Given the description of an element on the screen output the (x, y) to click on. 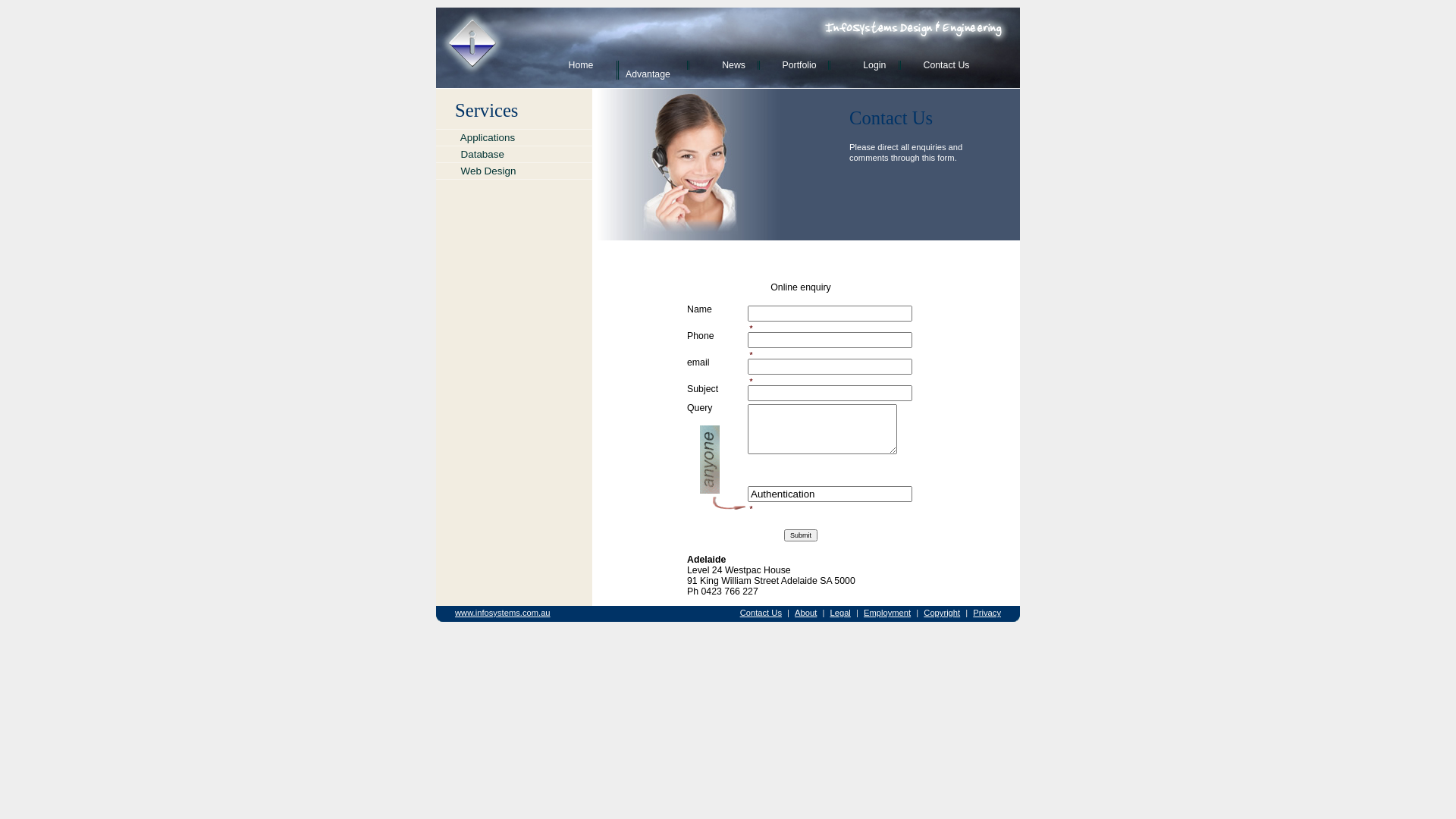
Submit Element type: text (800, 535)
Employment Element type: text (886, 612)
Privacy Element type: text (986, 612)
    Advantage Element type: text (647, 69)
  Web Design Element type: text (514, 170)
          Login Element type: text (859, 64)
  Applications Element type: text (514, 137)
      Home Element type: text (577, 64)
Contact Us Element type: text (760, 612)
Copyright Element type: text (941, 612)
Required field Element type: hover (751, 326)
Required field Element type: hover (751, 507)
  Database Element type: text (514, 154)
Required field Element type: hover (751, 353)
Legal Element type: text (839, 612)
About Element type: text (805, 612)
www.infosystems.com.au Element type: text (502, 612)
      Contact Us Element type: text (938, 64)
          News Element type: text (718, 64)
Required field Element type: hover (751, 379)
      Portfolio Element type: text (788, 64)
